Given the description of an element on the screen output the (x, y) to click on. 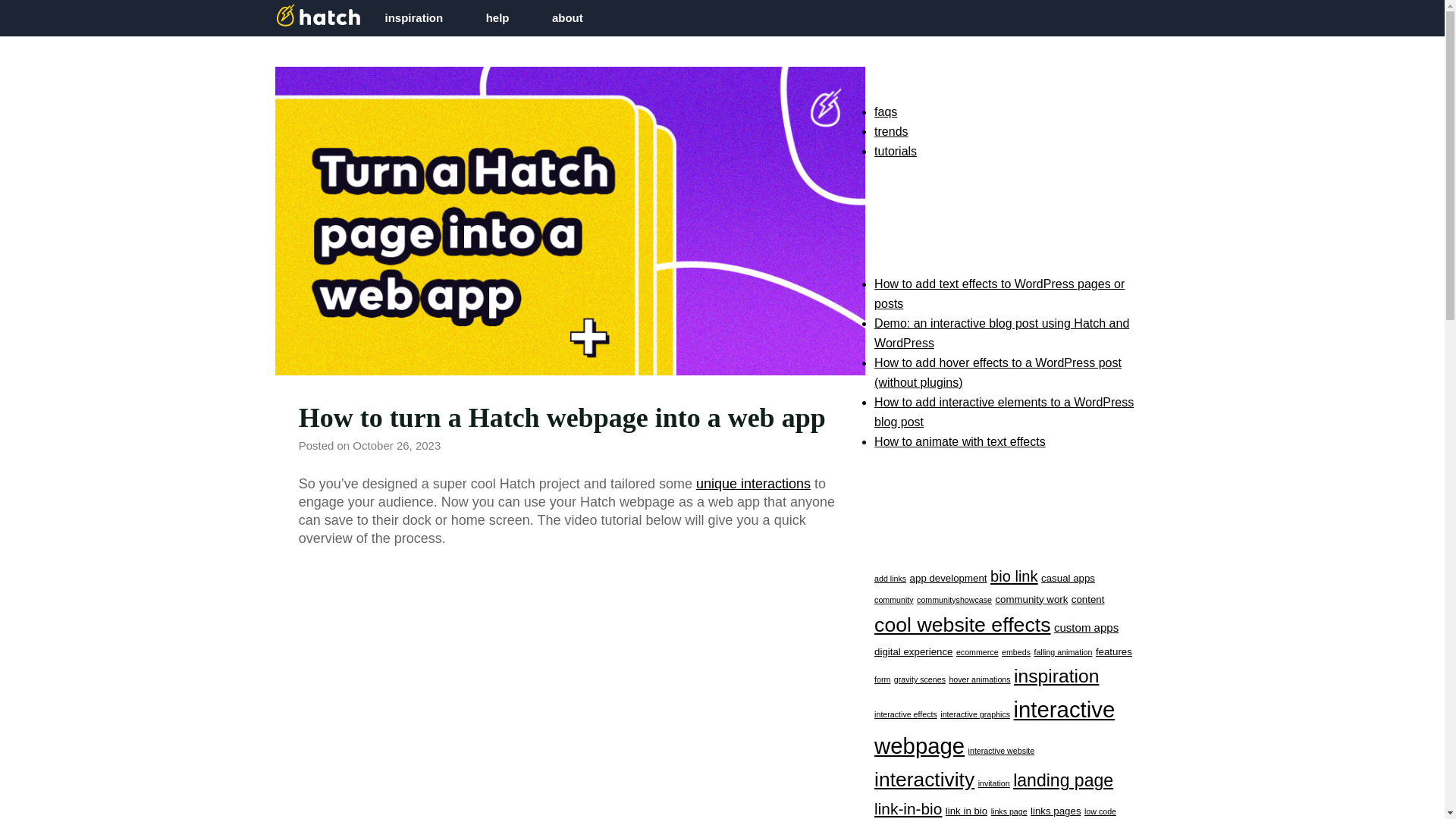
trends (891, 131)
How to add interactive elements to a WordPress blog post (1004, 411)
community (894, 599)
casual apps (1067, 577)
How to animate with text effects (960, 440)
community work (1030, 599)
communityshowcase (954, 599)
tutorials (896, 151)
inspiration (419, 18)
add links (890, 578)
app development (948, 577)
ecommerce (977, 651)
digital experience (913, 651)
bio link (1014, 576)
help (504, 18)
